Given the description of an element on the screen output the (x, y) to click on. 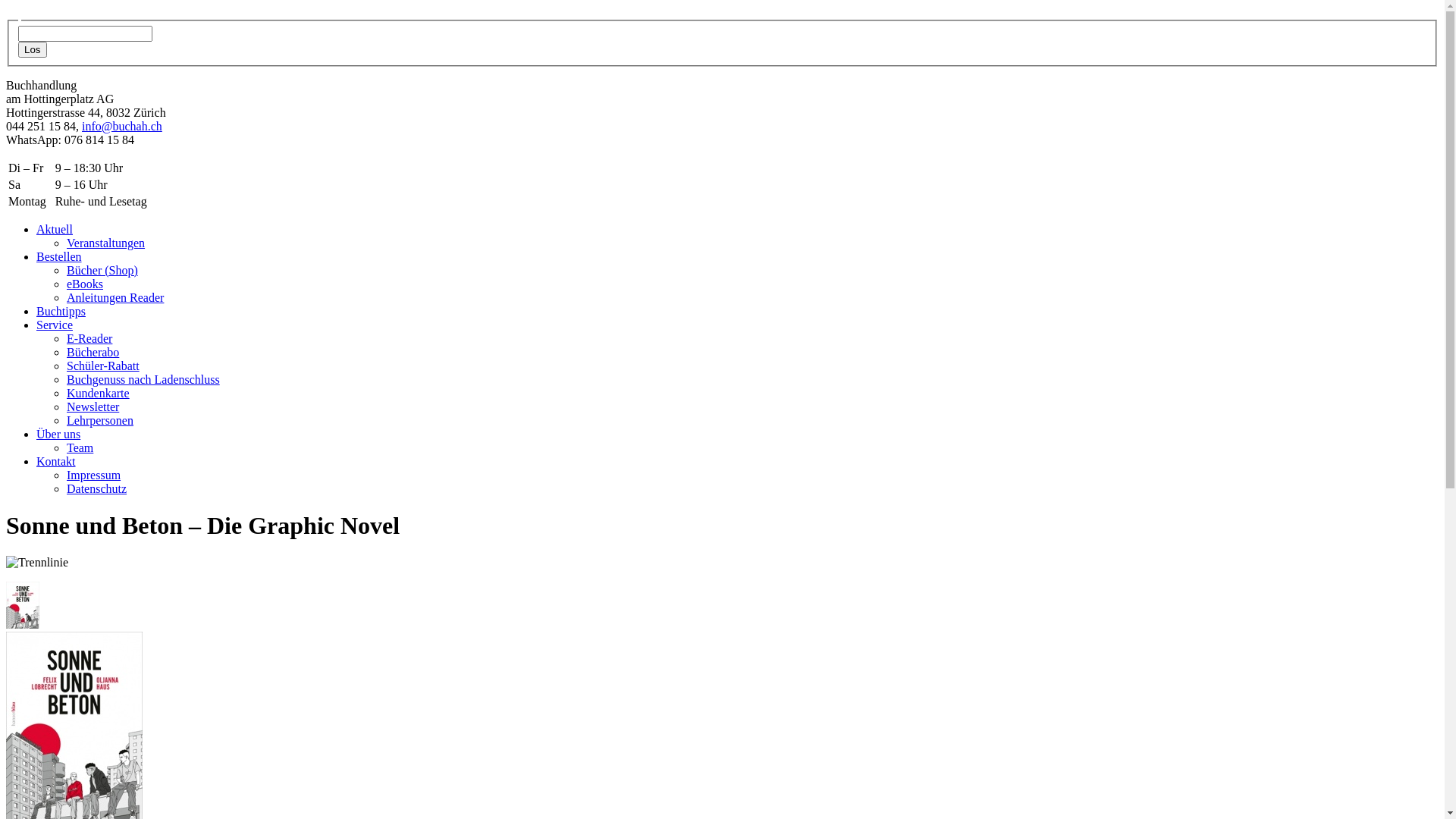
Impressum Element type: text (93, 474)
Newsletter Element type: text (92, 406)
Buchtipps Element type: text (60, 310)
Datenschutz Element type: text (96, 488)
Service Element type: text (54, 324)
Team Element type: text (79, 447)
Kontakt Element type: text (55, 461)
Los Element type: text (32, 49)
Buchgenuss nach Ladenschluss Element type: text (142, 379)
Los Element type: hover (32, 49)
Aktuell Element type: text (54, 228)
Bestellen Element type: text (58, 256)
eBooks Element type: text (84, 283)
Anleitungen Reader Element type: text (114, 297)
E-Reader Element type: text (89, 338)
Kundenkarte Element type: text (97, 392)
Lehrpersonen Element type: text (99, 420)
Veranstaltungen Element type: text (105, 242)
info@buchah.ch Element type: text (121, 125)
